Given the description of an element on the screen output the (x, y) to click on. 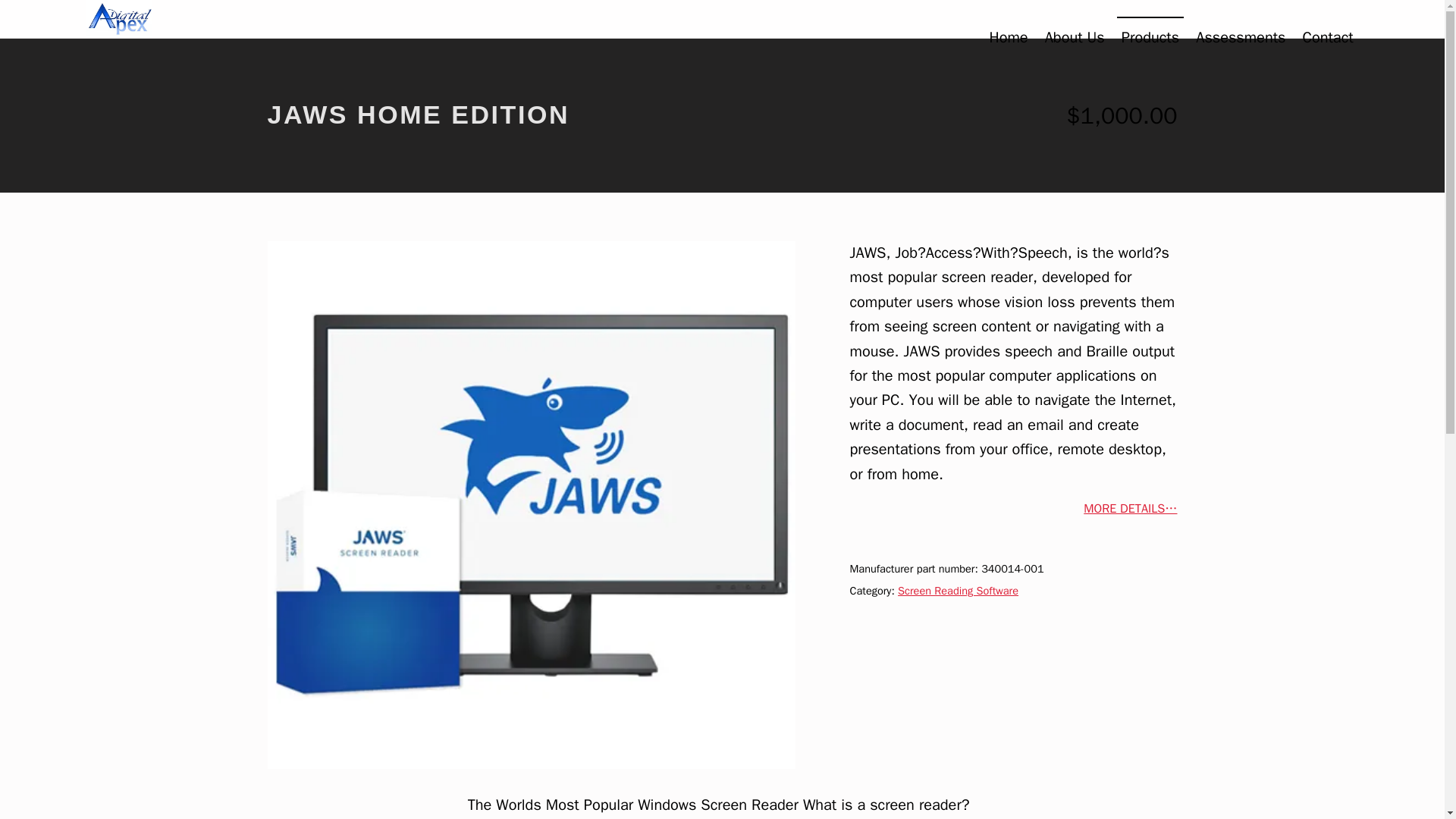
Assessments (1240, 36)
Contact (1326, 36)
Screen Reading Software (957, 590)
Products (1149, 36)
Home (1008, 36)
About Us (1075, 36)
